Given the description of an element on the screen output the (x, y) to click on. 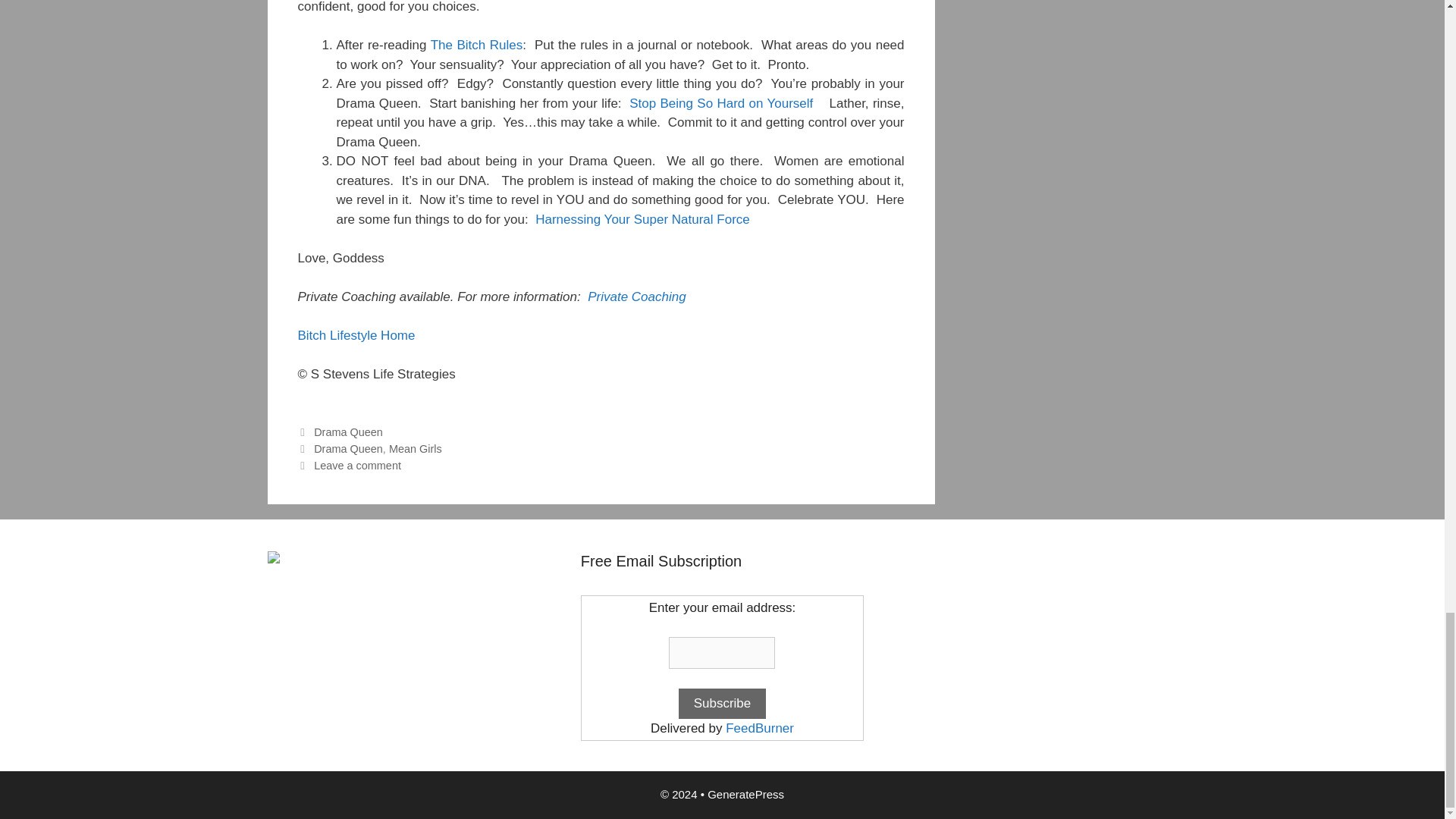
Private Coaching (636, 296)
Drama Queen (348, 431)
Subscribe (722, 703)
Stop Being So Hard on Yourself (720, 103)
The Bitch Rules (476, 44)
Leave a comment (357, 465)
Drama Queen (348, 449)
Bitch Lifestyle Home (355, 335)
Harnessing Your Super Natural Force (642, 219)
Mean Girls (415, 449)
